Given the description of an element on the screen output the (x, y) to click on. 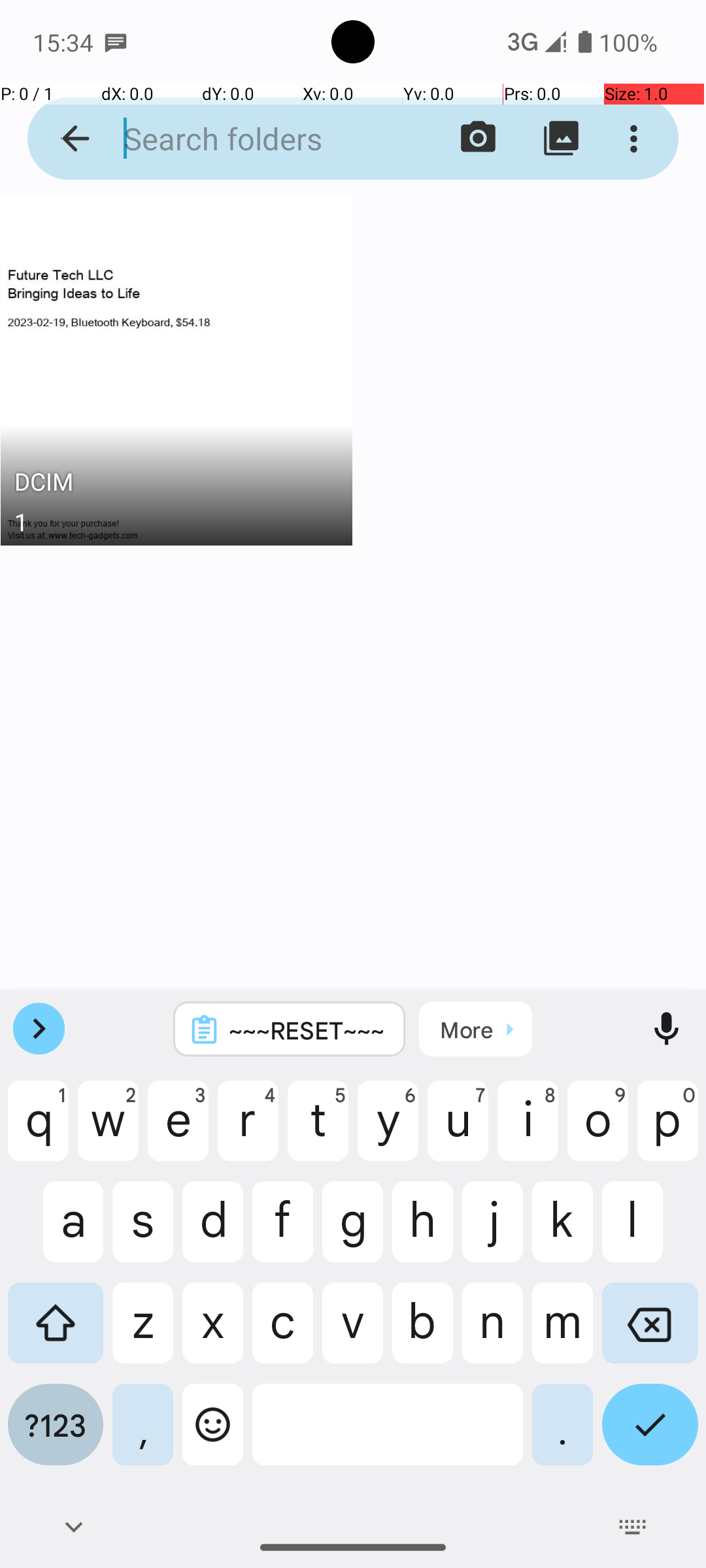
Open camera Element type: android.widget.Button (477, 138)
Show all folders content Element type: android.widget.Button (560, 138)
DCIM Element type: android.widget.TextView (176, 484)
~~~RESET~~~ Element type: android.widget.TextView (306, 1029)
